Given the description of an element on the screen output the (x, y) to click on. 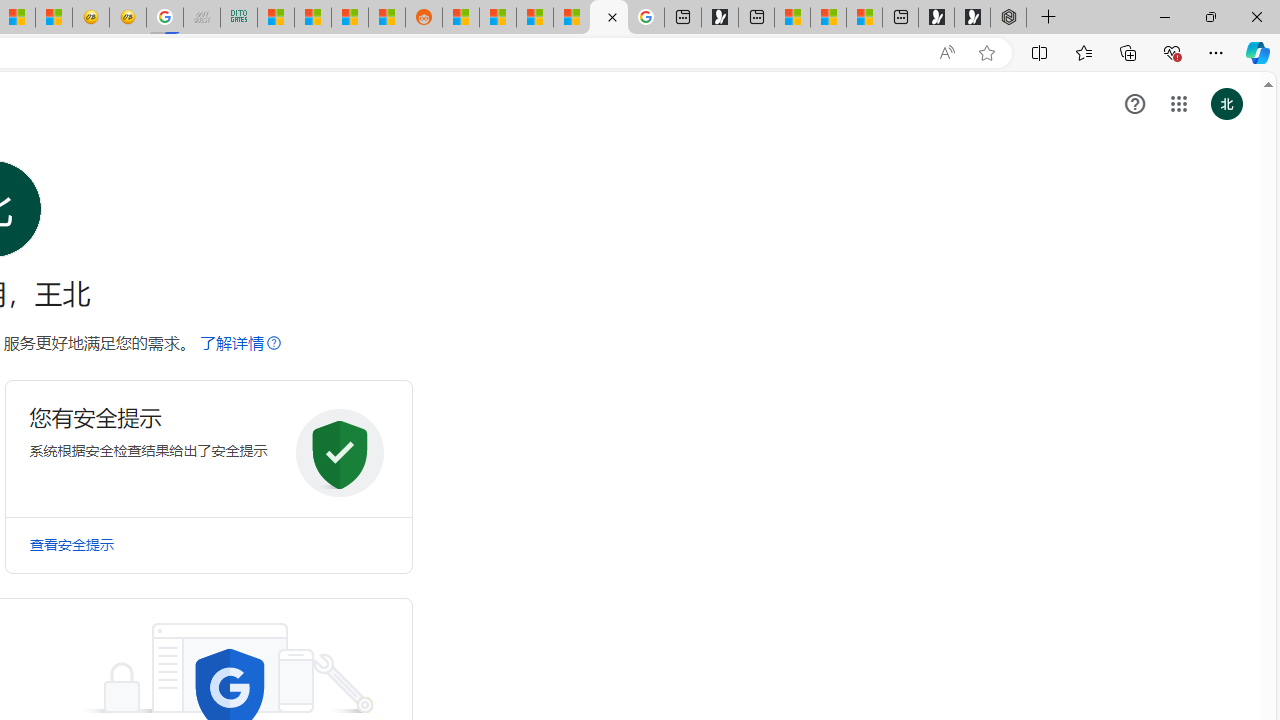
Class: gb_E (1178, 103)
